Given the description of an element on the screen output the (x, y) to click on. 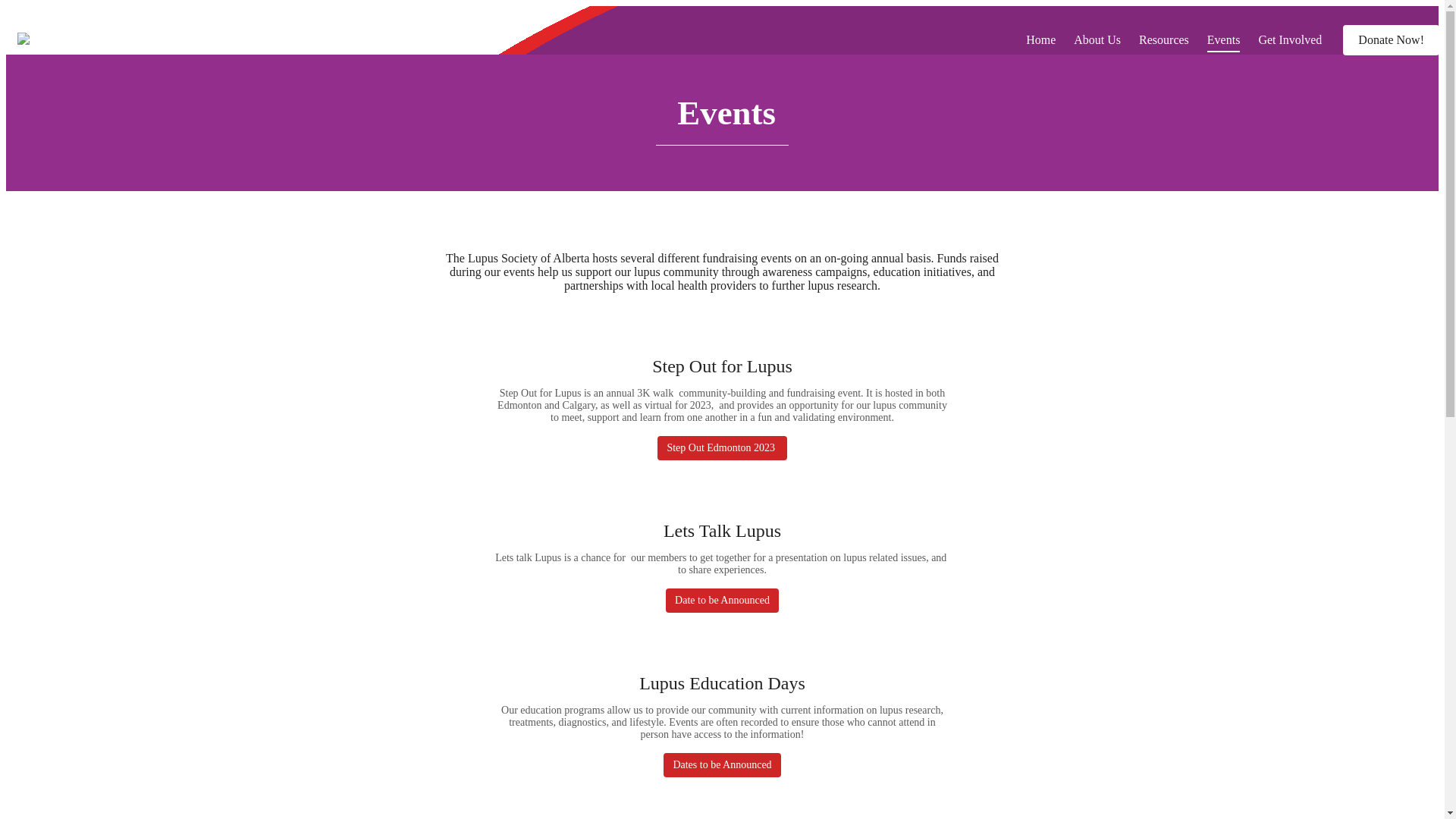
Date to be Announced Element type: text (721, 600)
Step Out Edmonton 2023  Element type: text (721, 448)
Donate Now! Element type: text (1391, 40)
About Us Element type: text (1096, 39)
Home Element type: text (1040, 39)
Get Involved Element type: text (1289, 39)
Dates to be Announced Element type: text (721, 765)
Events Element type: text (1223, 39)
Resources Element type: text (1164, 39)
